Given the description of an element on the screen output the (x, y) to click on. 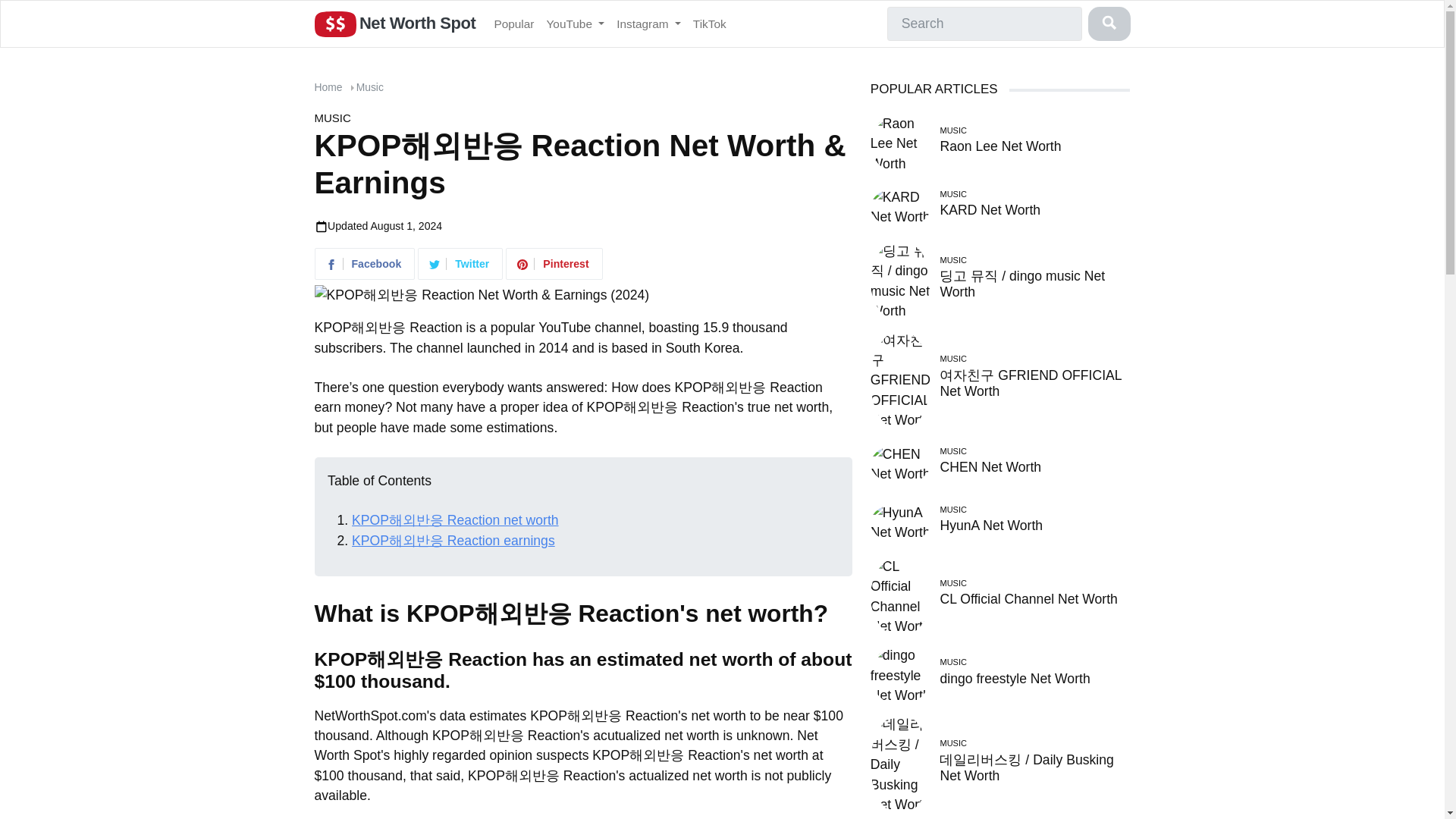
Pinterest (555, 264)
MUSIC (332, 117)
Instagram (648, 23)
View all articles in Music (332, 117)
Raon Lee Net Worth (900, 142)
View all articles in Music (370, 87)
dingo freestyle Net Worth (900, 674)
CHEN Net Worth (990, 467)
HyunA Net Worth (900, 521)
Popular (513, 23)
